Given the description of an element on the screen output the (x, y) to click on. 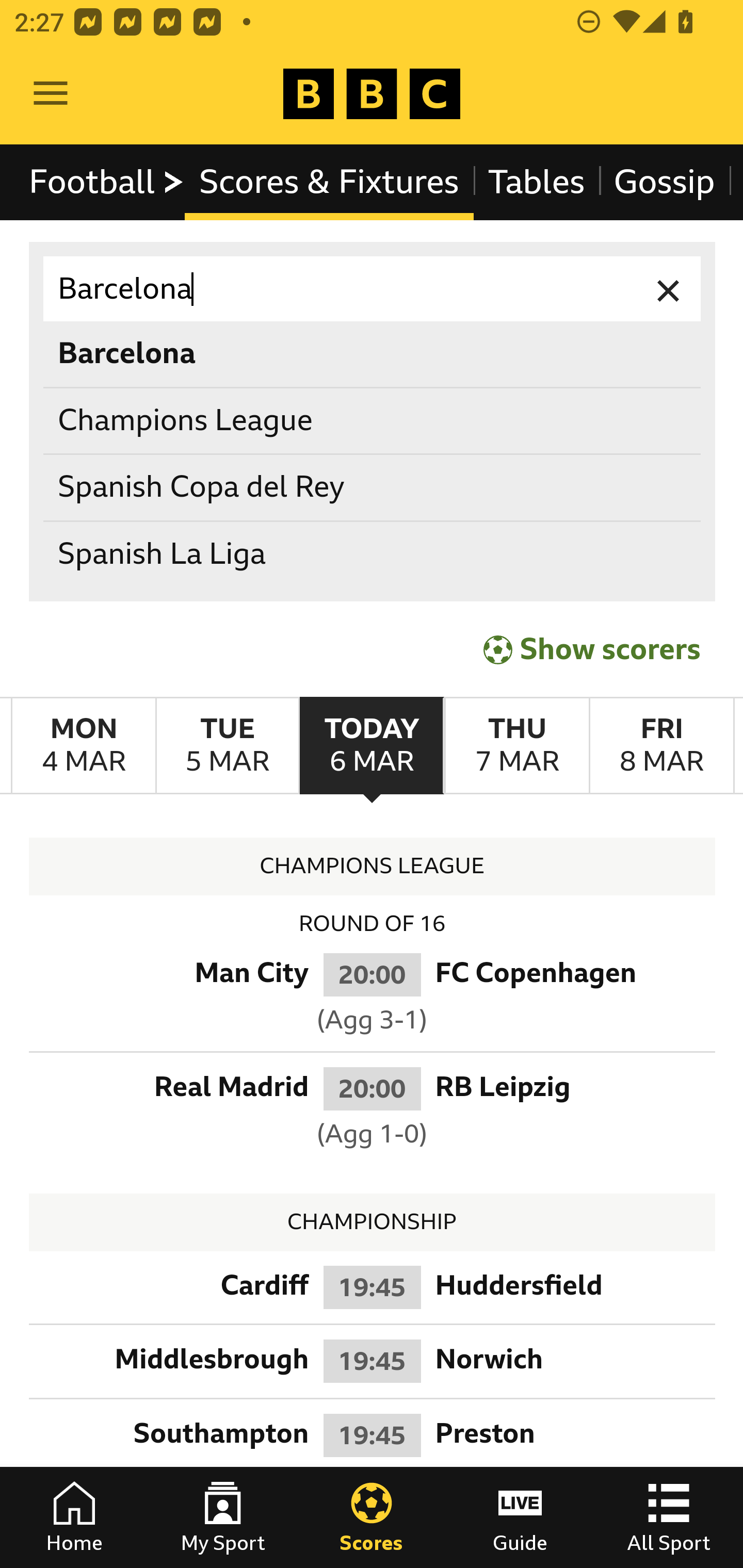
Open Menu (50, 93)
Football  (106, 181)
Scores & Fixtures (329, 181)
Tables (536, 181)
Gossip (664, 181)
Barcelona (372, 289)
Clear input (669, 289)
Barcelona (372, 353)
Champions League (372, 419)
Spanish Copa del Rey (372, 488)
Spanish La Liga (372, 554)
Show scorers (591, 647)
MondayMarch 4th Monday March 4th (83, 745)
TuesdayMarch 5th Tuesday March 5th (227, 745)
ThursdayMarch 7th Thursday March 7th (516, 745)
FridayMarch 8th Friday March 8th (661, 745)
Home (74, 1517)
My Sport (222, 1517)
Guide (519, 1517)
All Sport (668, 1517)
